Given the description of an element on the screen output the (x, y) to click on. 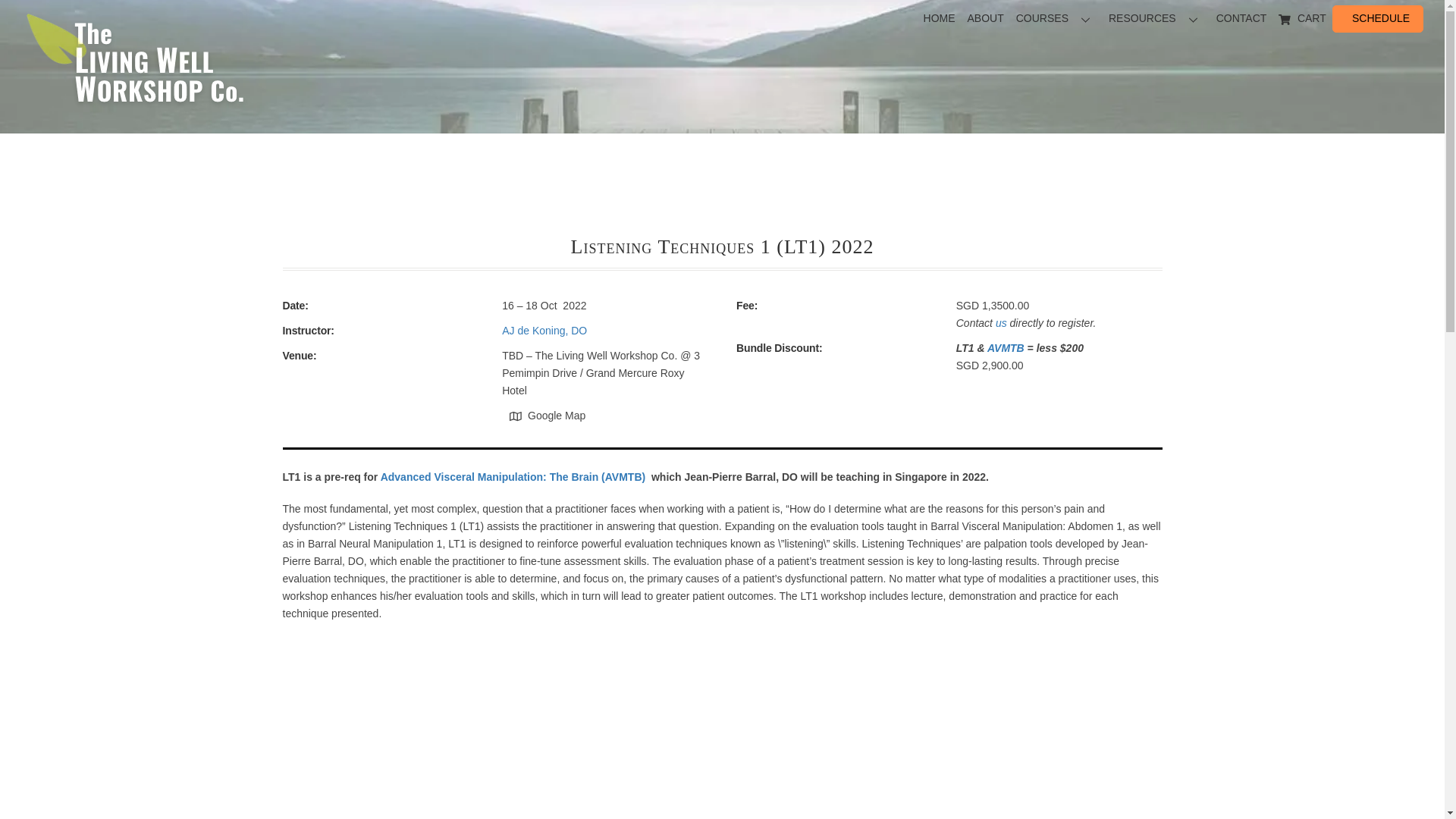
CART (1302, 19)
CONTACT (722, 19)
SCHEDULE (1240, 19)
ABOUT (1380, 18)
The Living Well Workshop Co. (985, 19)
The Living Well Workshop Co. (136, 113)
RESOURCES (136, 63)
Google Map (1155, 19)
COURSES (547, 415)
